Given the description of an element on the screen output the (x, y) to click on. 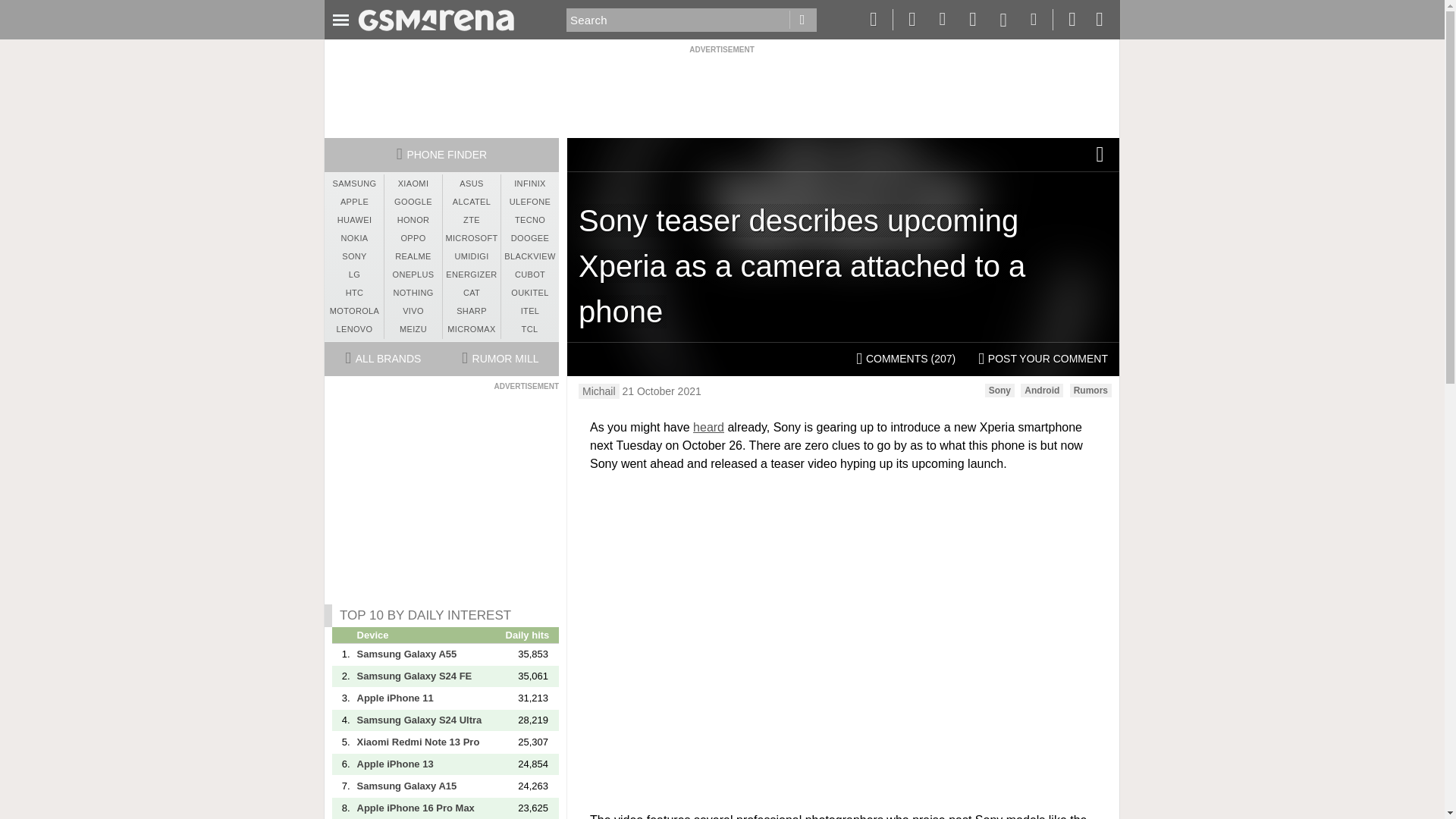
POST YOUR COMMENT (1042, 359)
Android (1041, 390)
Rumors (1091, 390)
Go (802, 19)
heard (708, 427)
Michail (599, 391)
Go (802, 19)
Sony (999, 390)
